Given the description of an element on the screen output the (x, y) to click on. 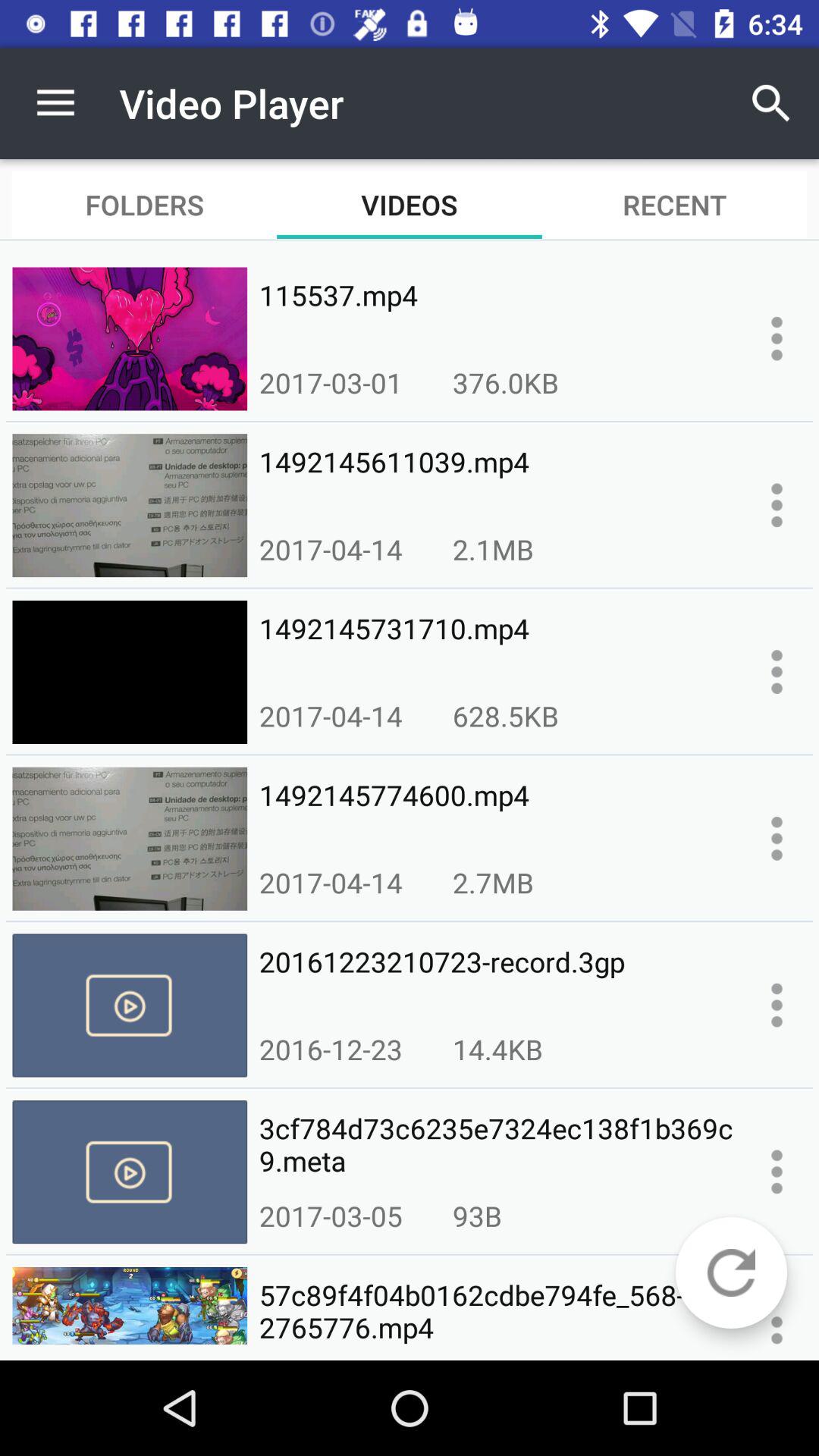
turn on 2016-12-23 (330, 1049)
